Given the description of an element on the screen output the (x, y) to click on. 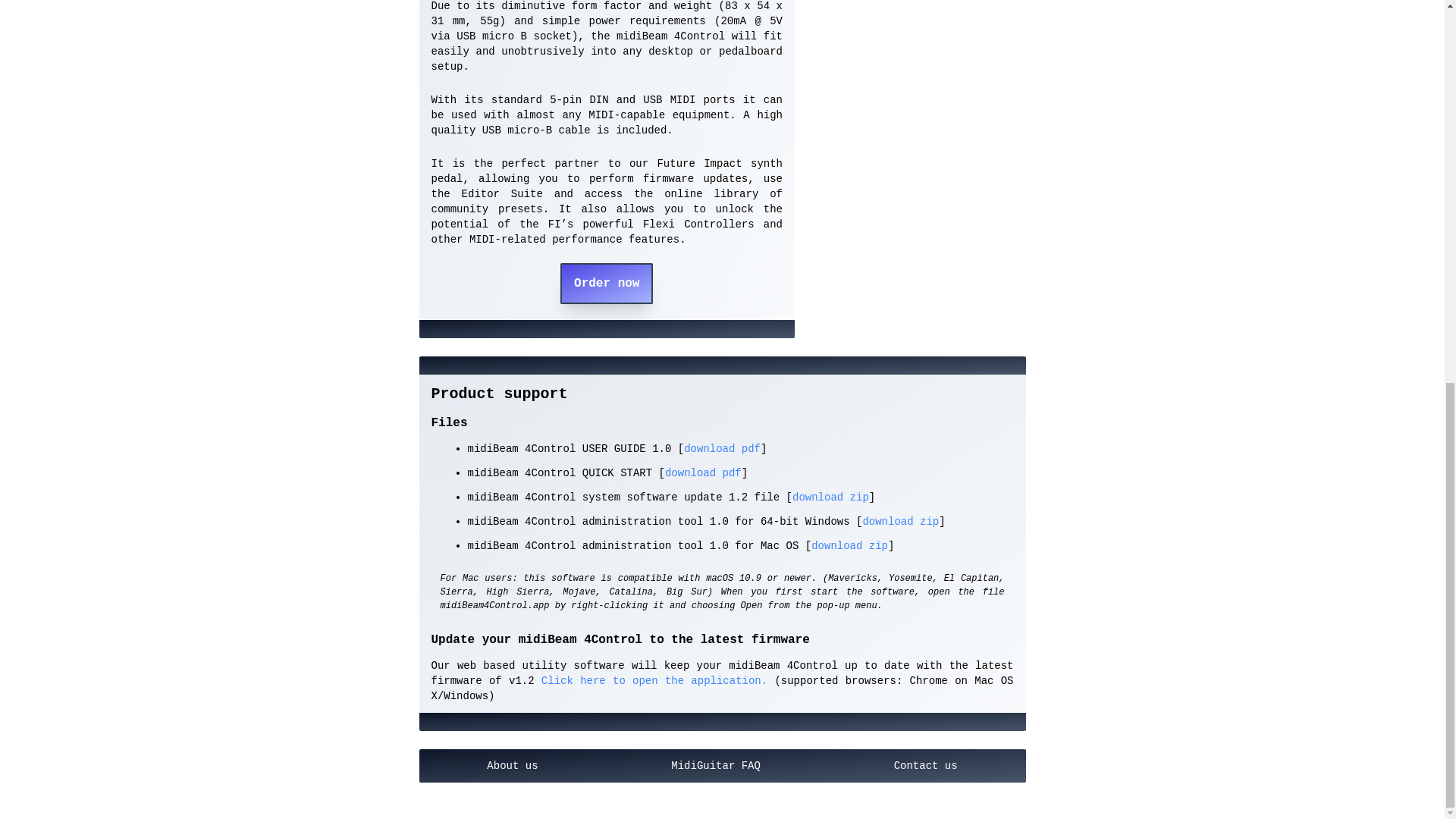
Click here to open the application. (651, 680)
Order now (606, 282)
Contact us (925, 765)
About us (512, 765)
download pdf (722, 449)
MidiGuitar FAQ (715, 765)
download pdf (703, 472)
download zip (900, 521)
download zip (830, 497)
download zip (849, 545)
